Given the description of an element on the screen output the (x, y) to click on. 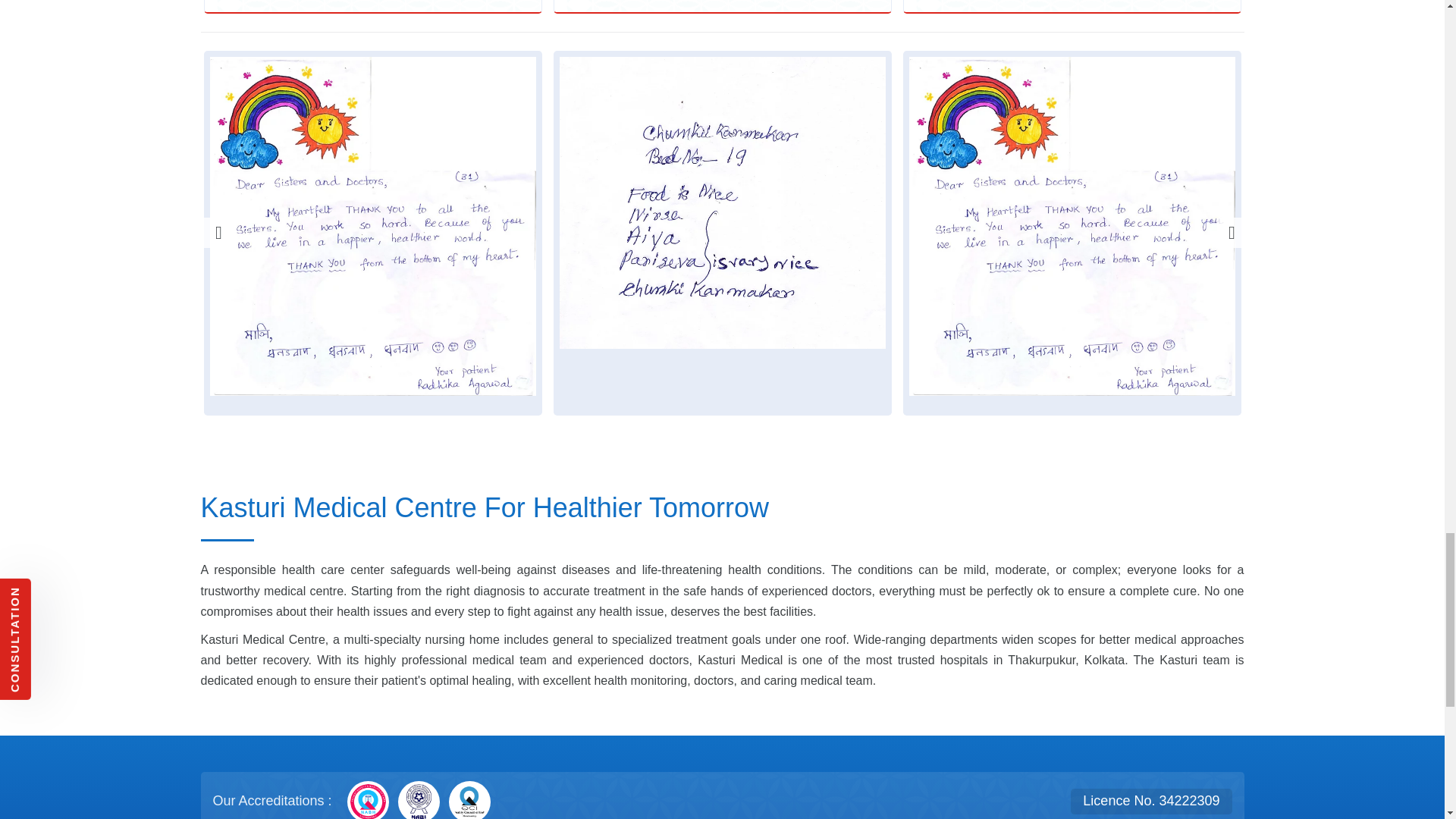
NABH Certified (367, 800)
NABL Certified (418, 800)
QCI Membership (469, 800)
